Given the description of an element on the screen output the (x, y) to click on. 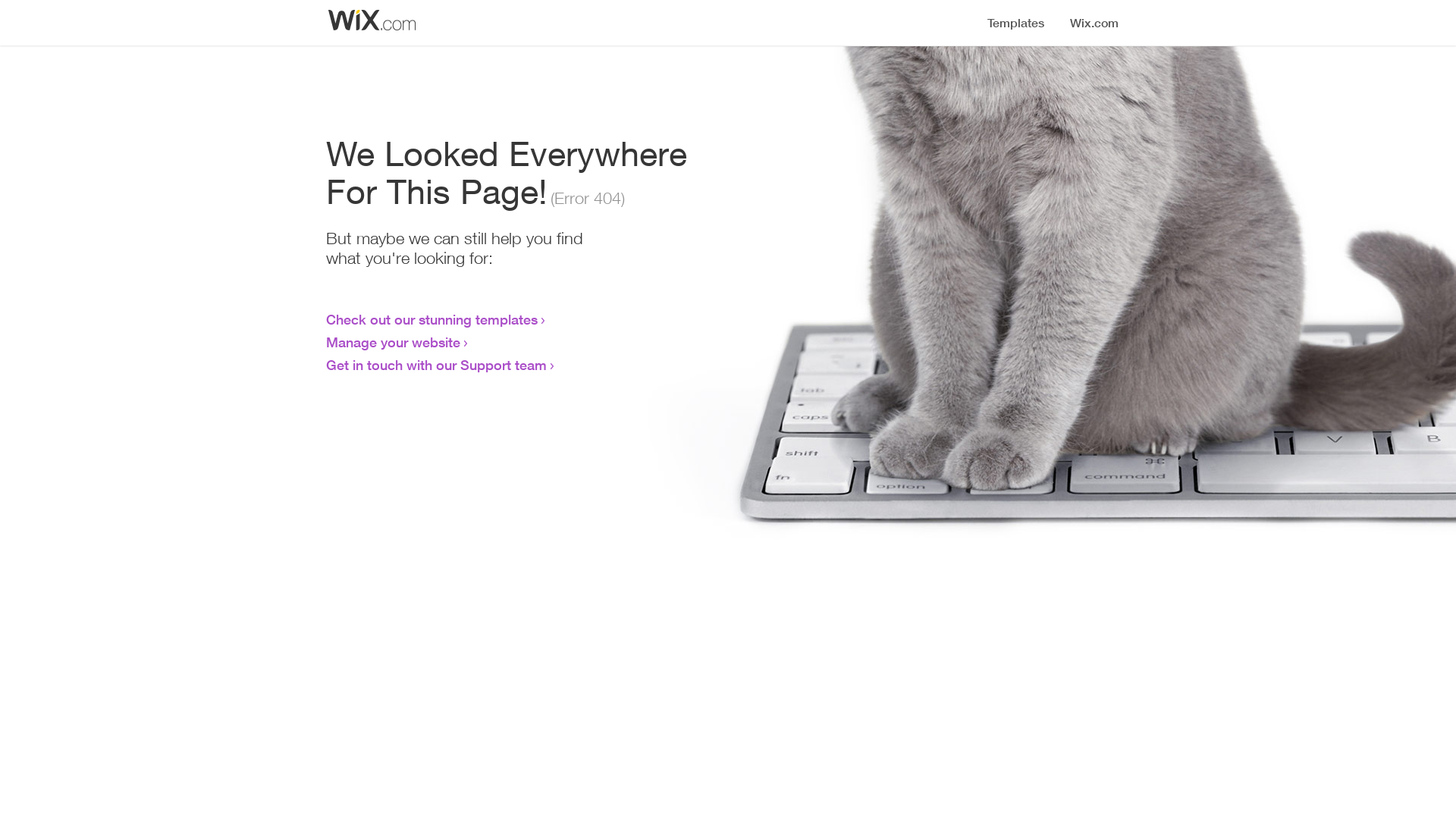
Manage your website Element type: text (393, 341)
Check out our stunning templates Element type: text (431, 318)
Get in touch with our Support team Element type: text (436, 364)
